Given the description of an element on the screen output the (x, y) to click on. 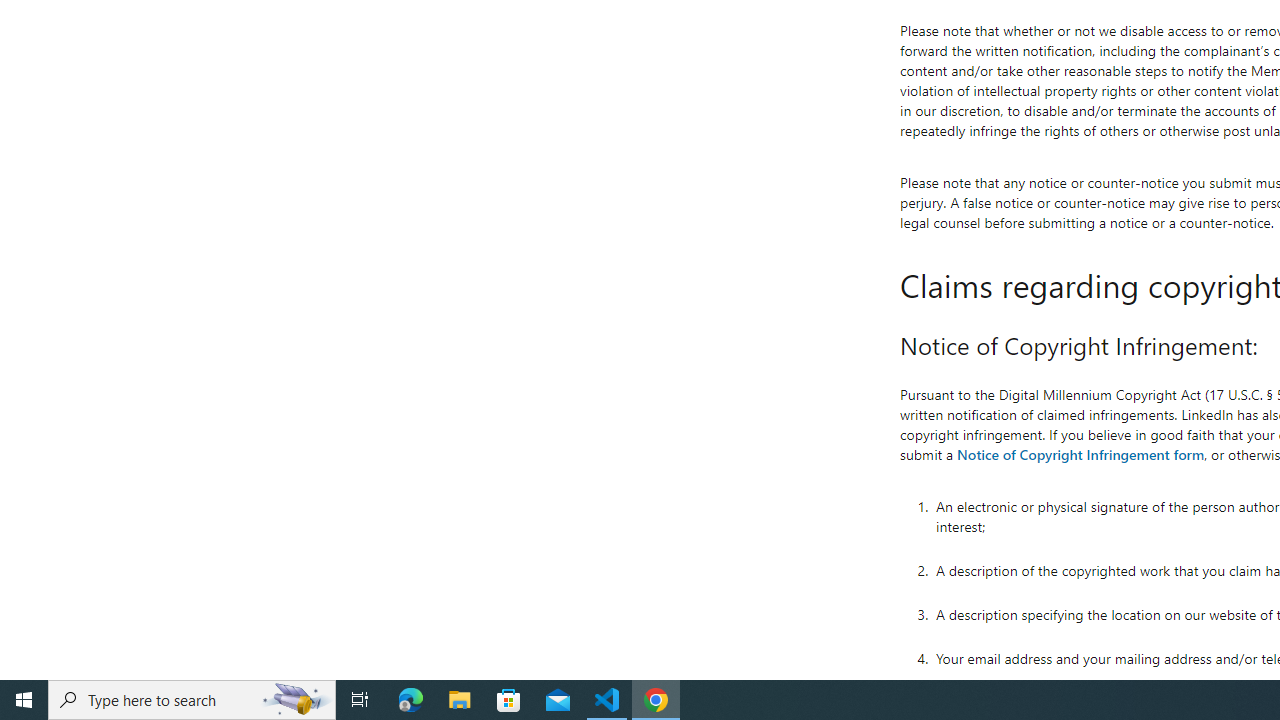
Notice of Copyright Infringement form (1080, 453)
